Given the description of an element on the screen output the (x, y) to click on. 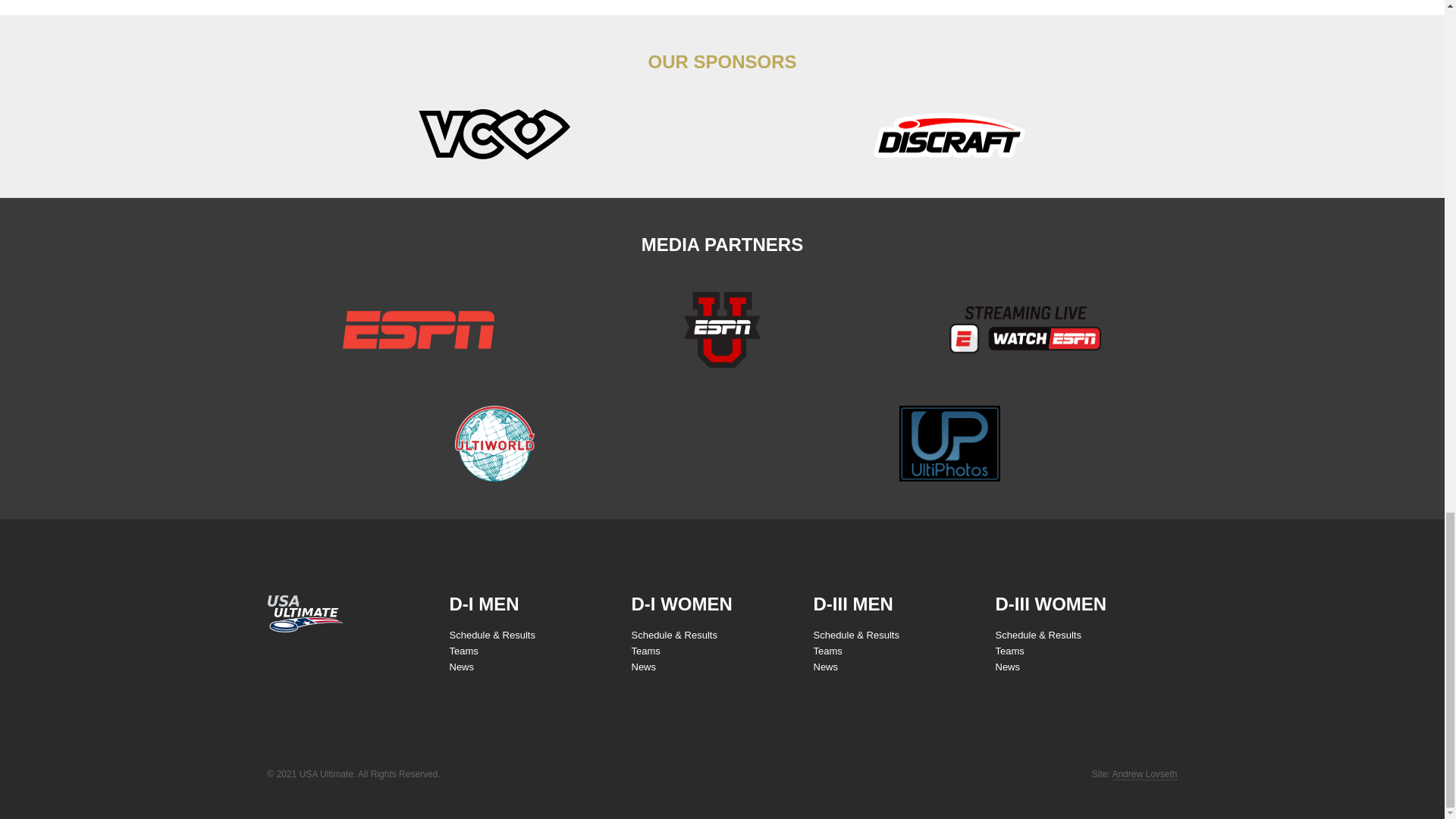
News (461, 666)
Teams (644, 650)
D-I WOMEN (681, 603)
D-I MEN (483, 603)
Teams (462, 650)
